Given the description of an element on the screen output the (x, y) to click on. 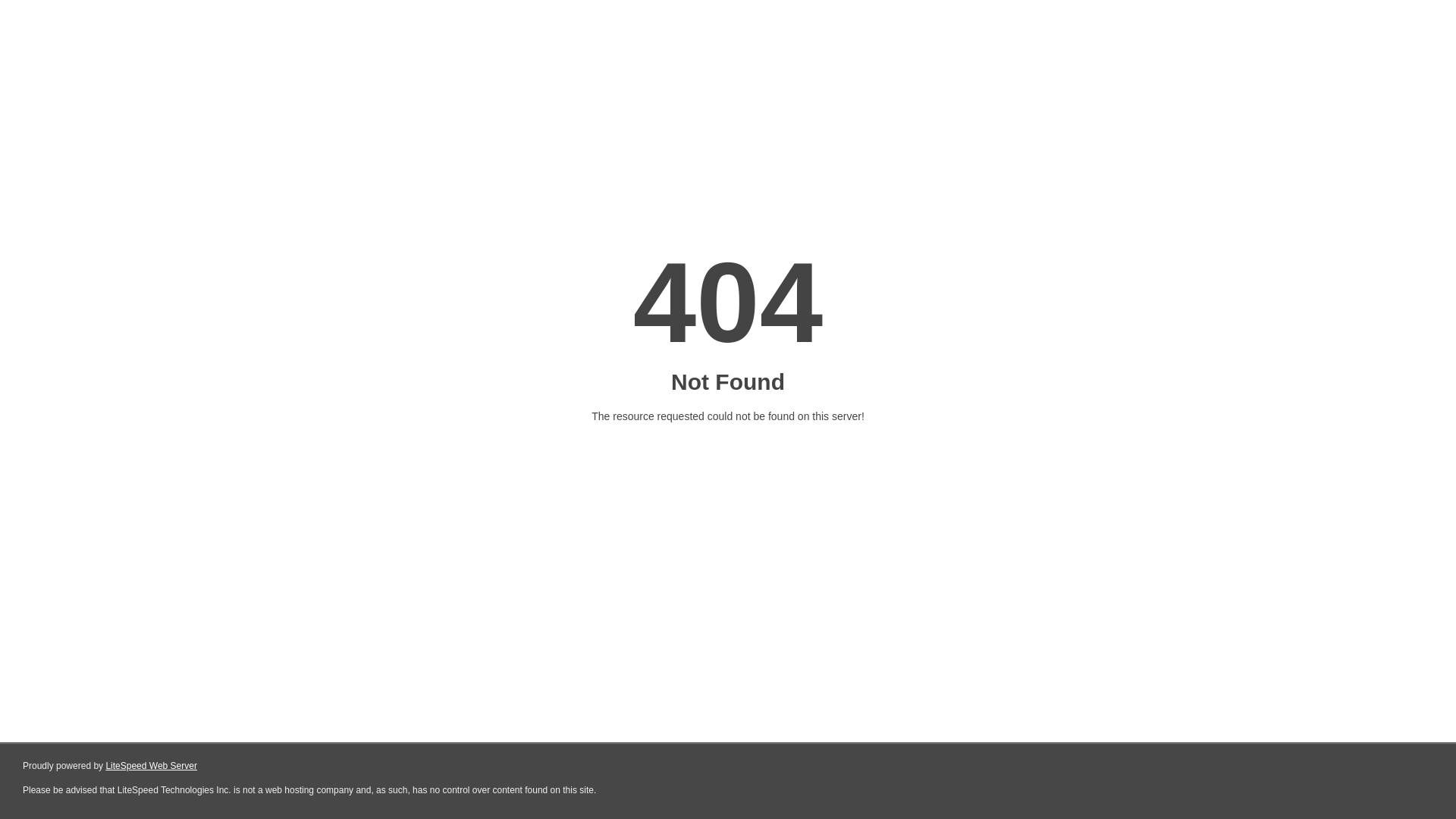
LiteSpeed Web Server Element type: text (151, 765)
